Given the description of an element on the screen output the (x, y) to click on. 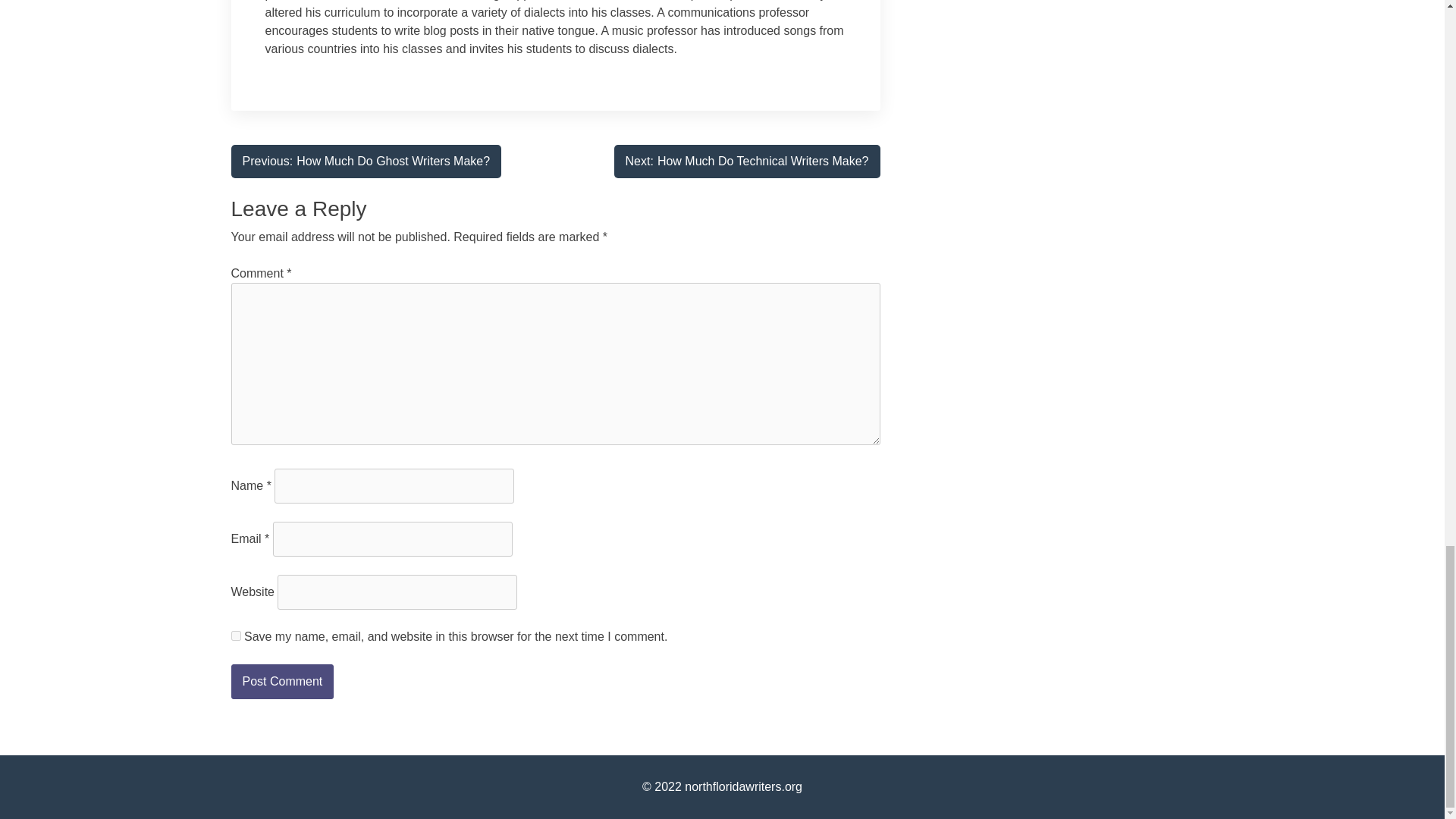
yes (235, 635)
Post Comment (365, 161)
Post Comment (747, 161)
